Given the description of an element on the screen output the (x, y) to click on. 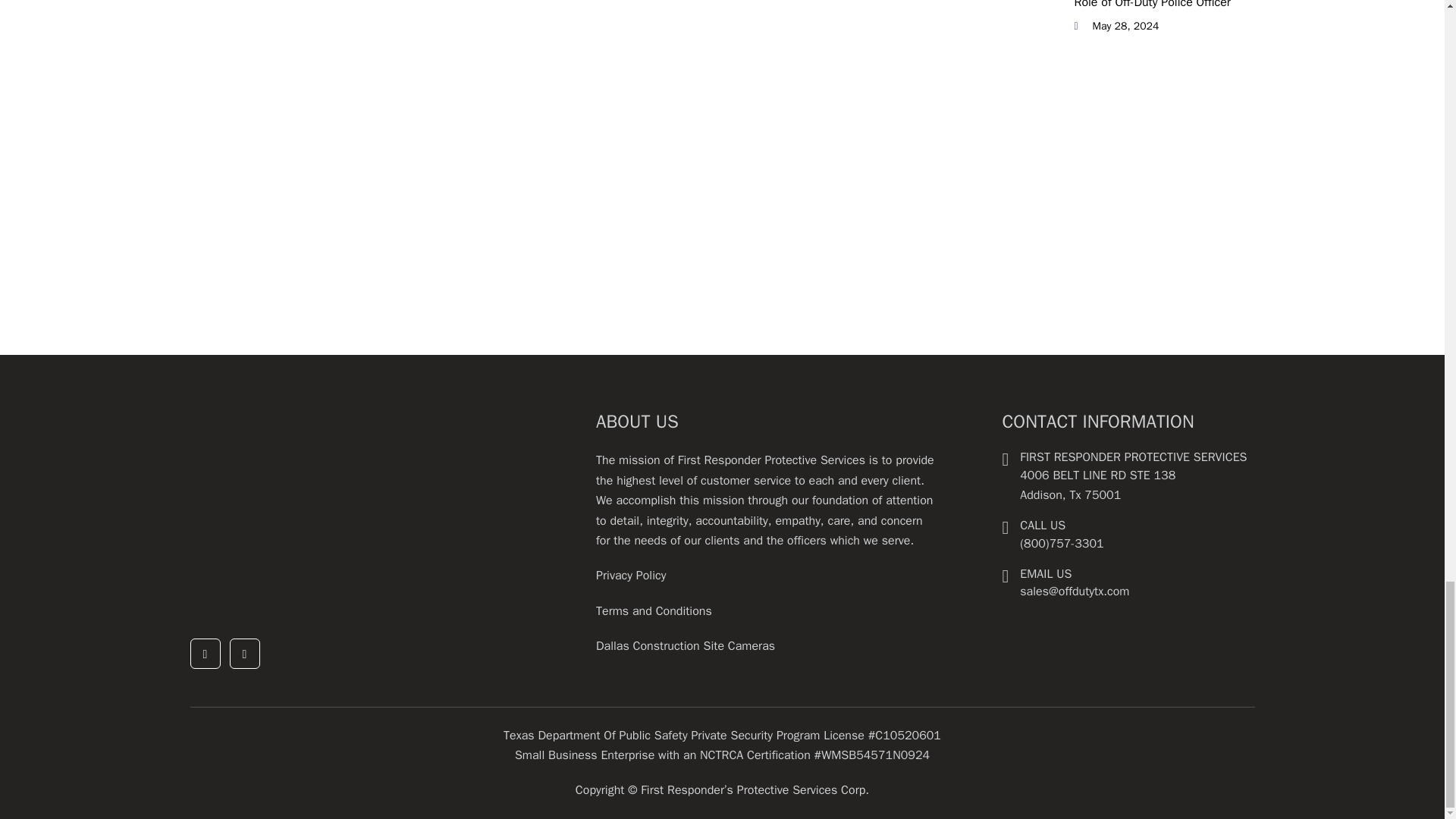
First Responder Protective Services Corp (302, 505)
